Given the description of an element on the screen output the (x, y) to click on. 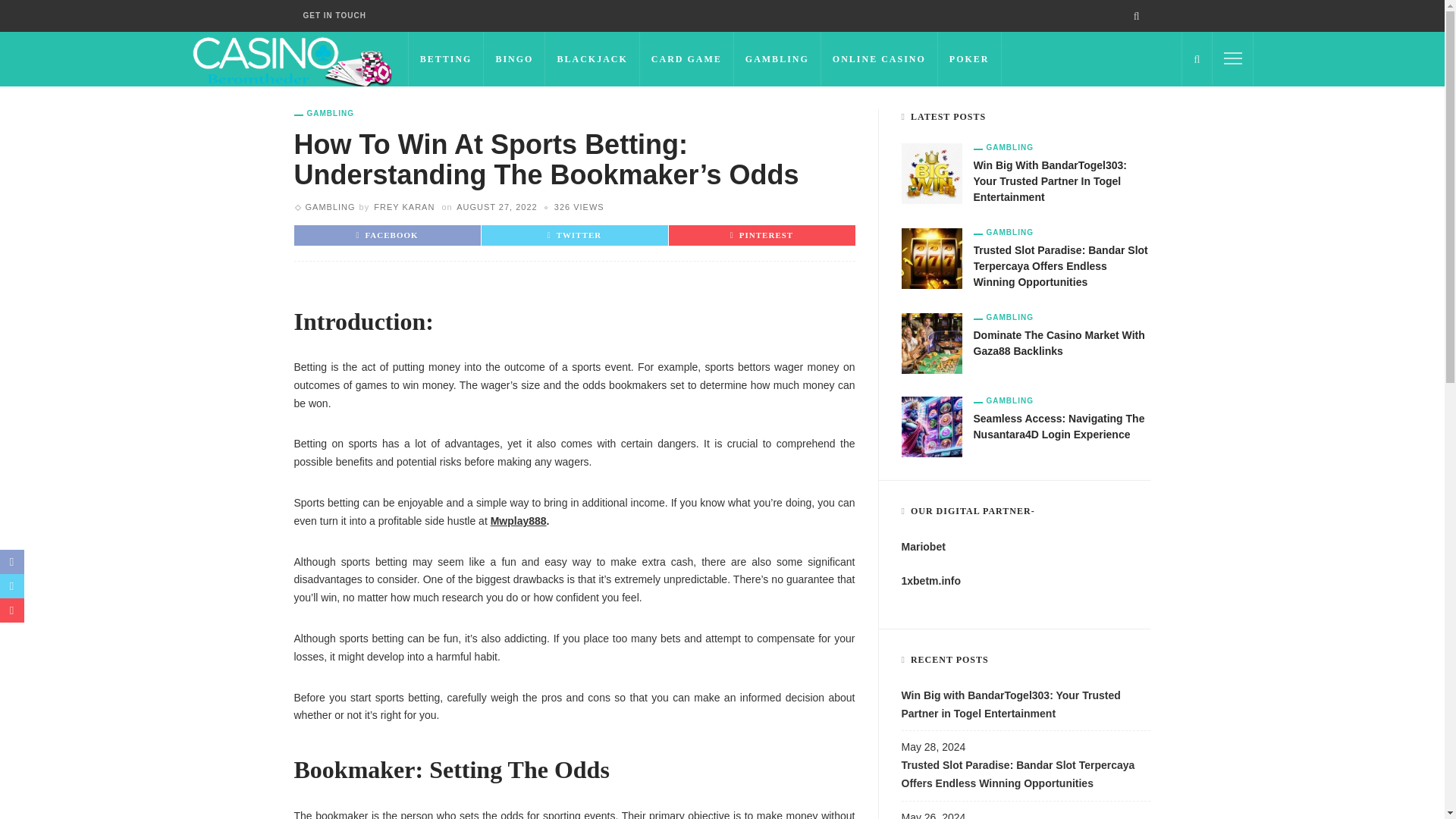
Casino Beromtheder : Improve your gambling skills (290, 58)
ONLINE CASINO (879, 58)
Gambling (323, 112)
Gambling (329, 206)
BLACKJACK (591, 58)
GAMBLING (777, 58)
Mwplay888 (518, 521)
PINTEREST (761, 234)
FACEBOOK (386, 234)
CARD GAME (686, 58)
GAMBLING (323, 112)
POKER (969, 58)
FREY KARAN (403, 206)
GET IN TOUCH (334, 15)
GAMBLING (329, 206)
